Given the description of an element on the screen output the (x, y) to click on. 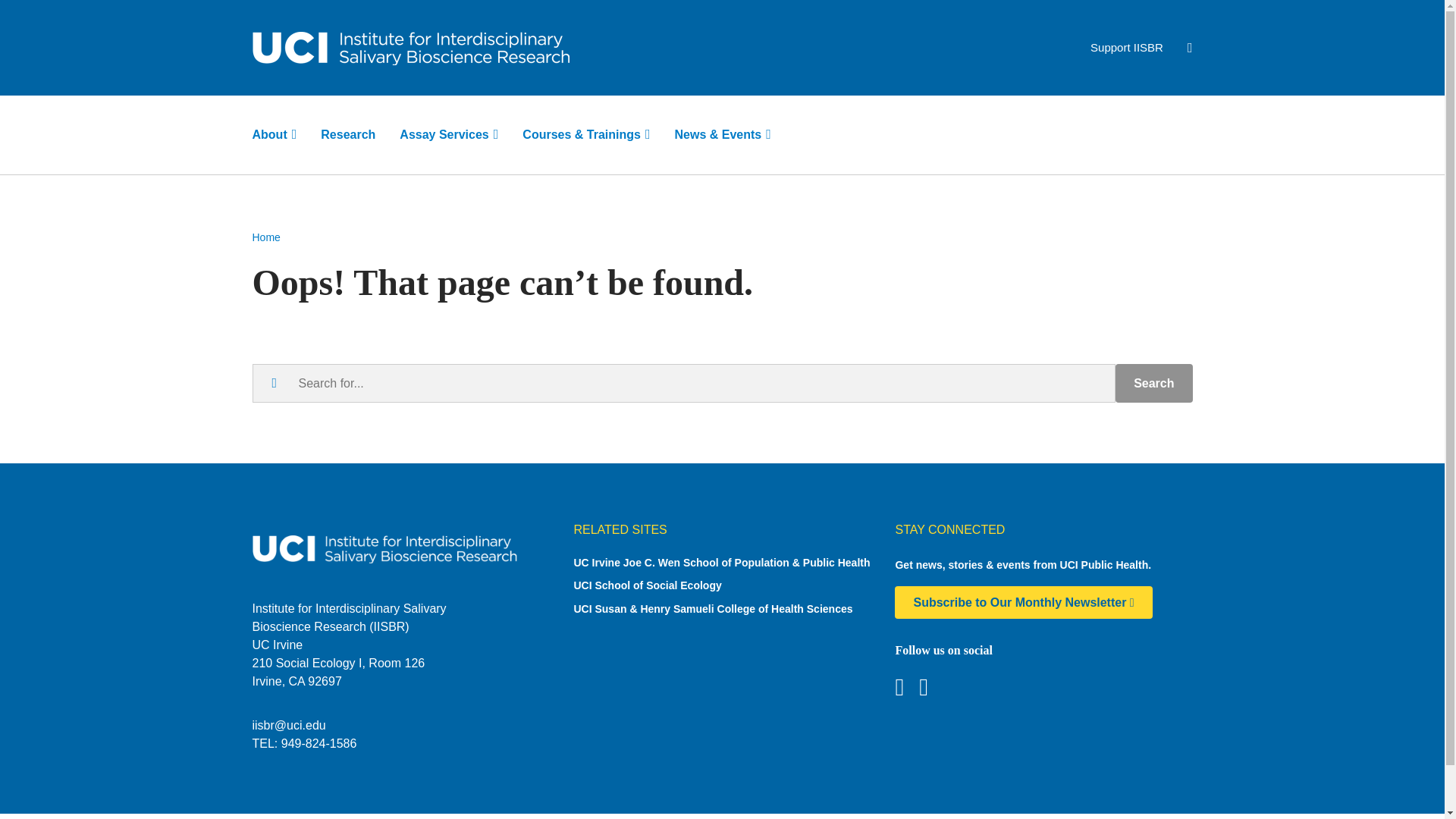
Search (1153, 382)
Support IISBR (1126, 47)
Assay Services (449, 134)
Support IISBR (1126, 47)
UCI School of Social Ecology (721, 585)
About (274, 134)
Research (347, 134)
About (274, 134)
Assay Services (449, 134)
Research (347, 134)
